Given the description of an element on the screen output the (x, y) to click on. 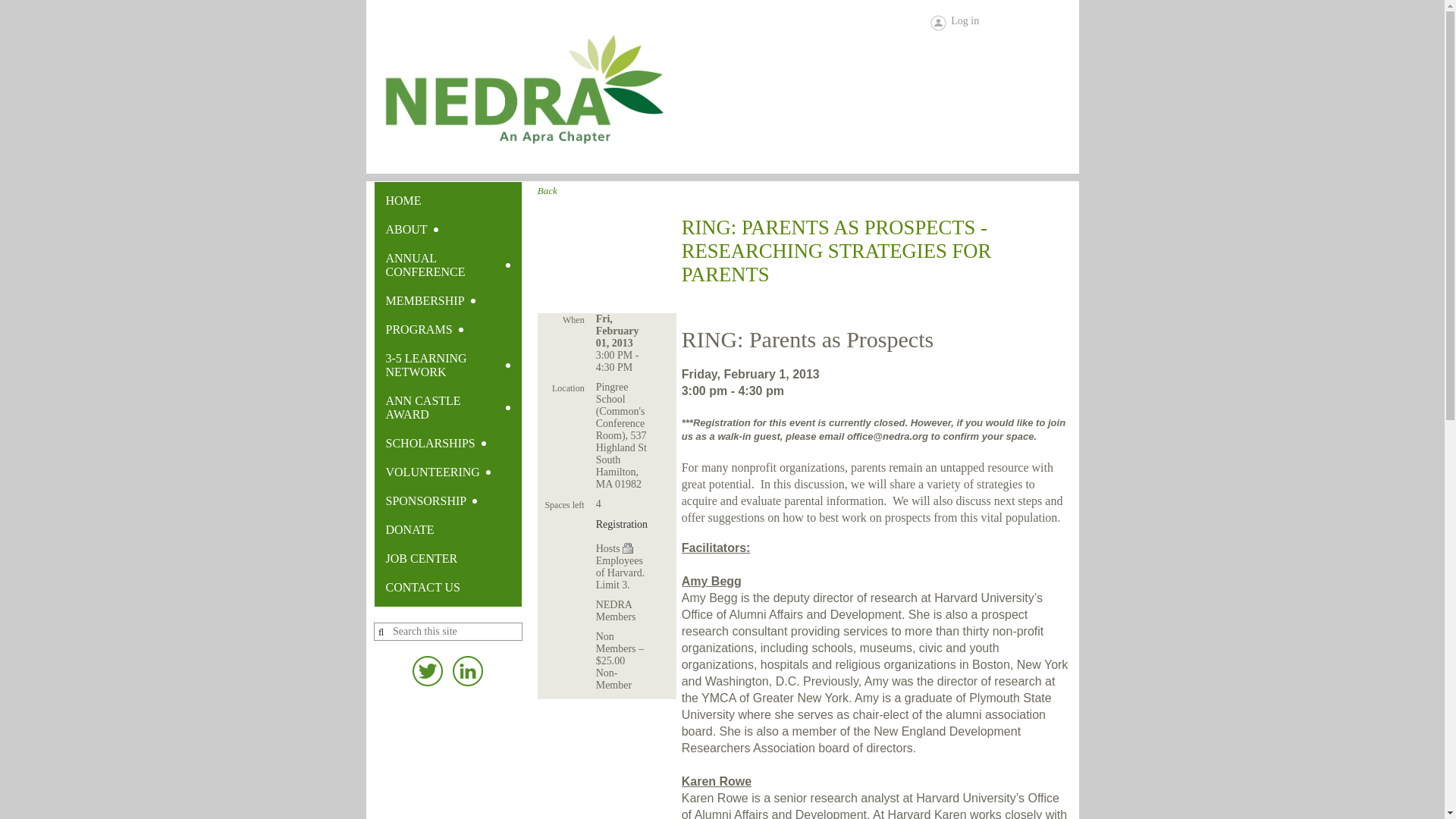
MEMBERSHIP (447, 300)
Home (447, 200)
Ann Castle Award (447, 407)
3-5 LEARNING NETWORK (447, 364)
ANN CASTLE AWARD (447, 407)
HOME (447, 200)
ANNUAL CONFERENCE (447, 265)
Membership (447, 300)
Log in (954, 23)
Annual Conference (447, 265)
Programs (447, 329)
3-5 Learning Network (447, 364)
PROGRAMS (447, 329)
About (447, 229)
ABOUT (447, 229)
